Given the description of an element on the screen output the (x, y) to click on. 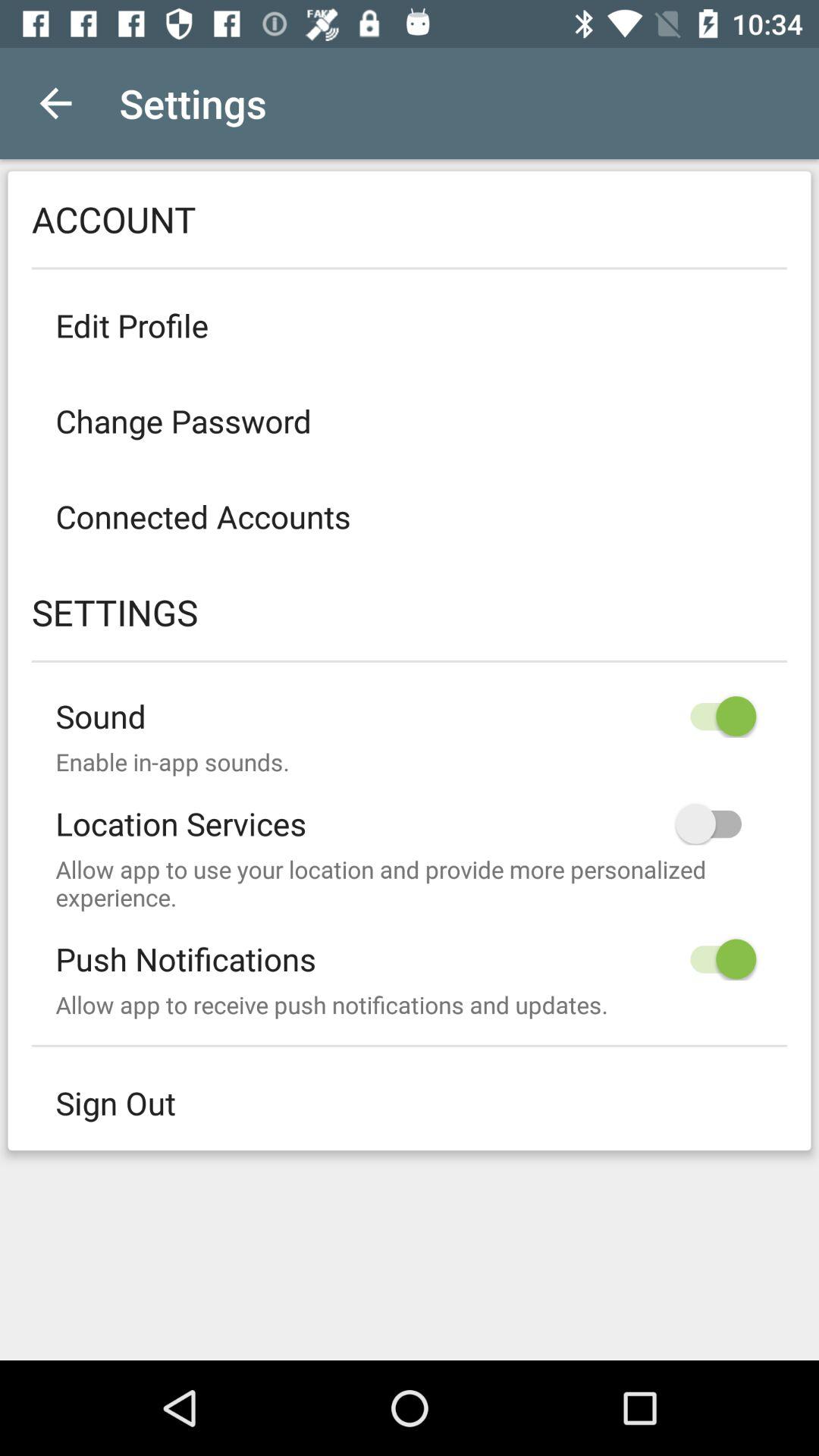
click the icon above settings (409, 516)
